Given the description of an element on the screen output the (x, y) to click on. 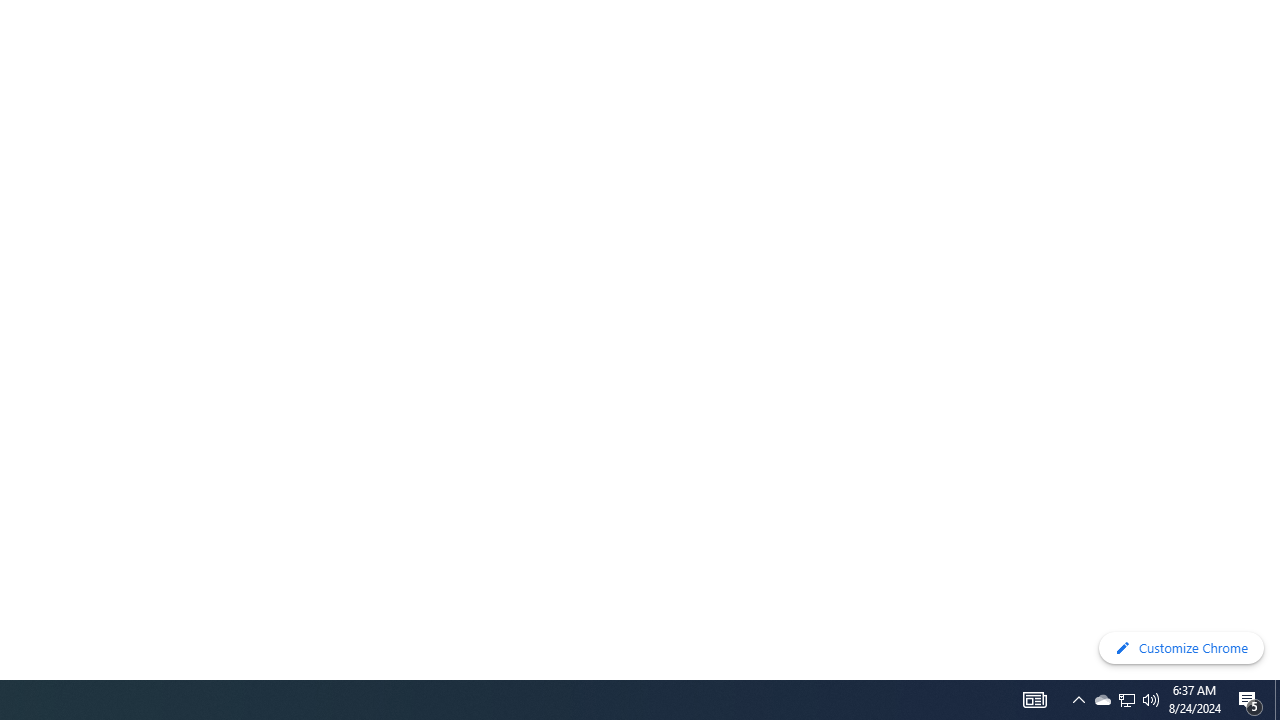
Customize Chrome (1181, 647)
